Given the description of an element on the screen output the (x, y) to click on. 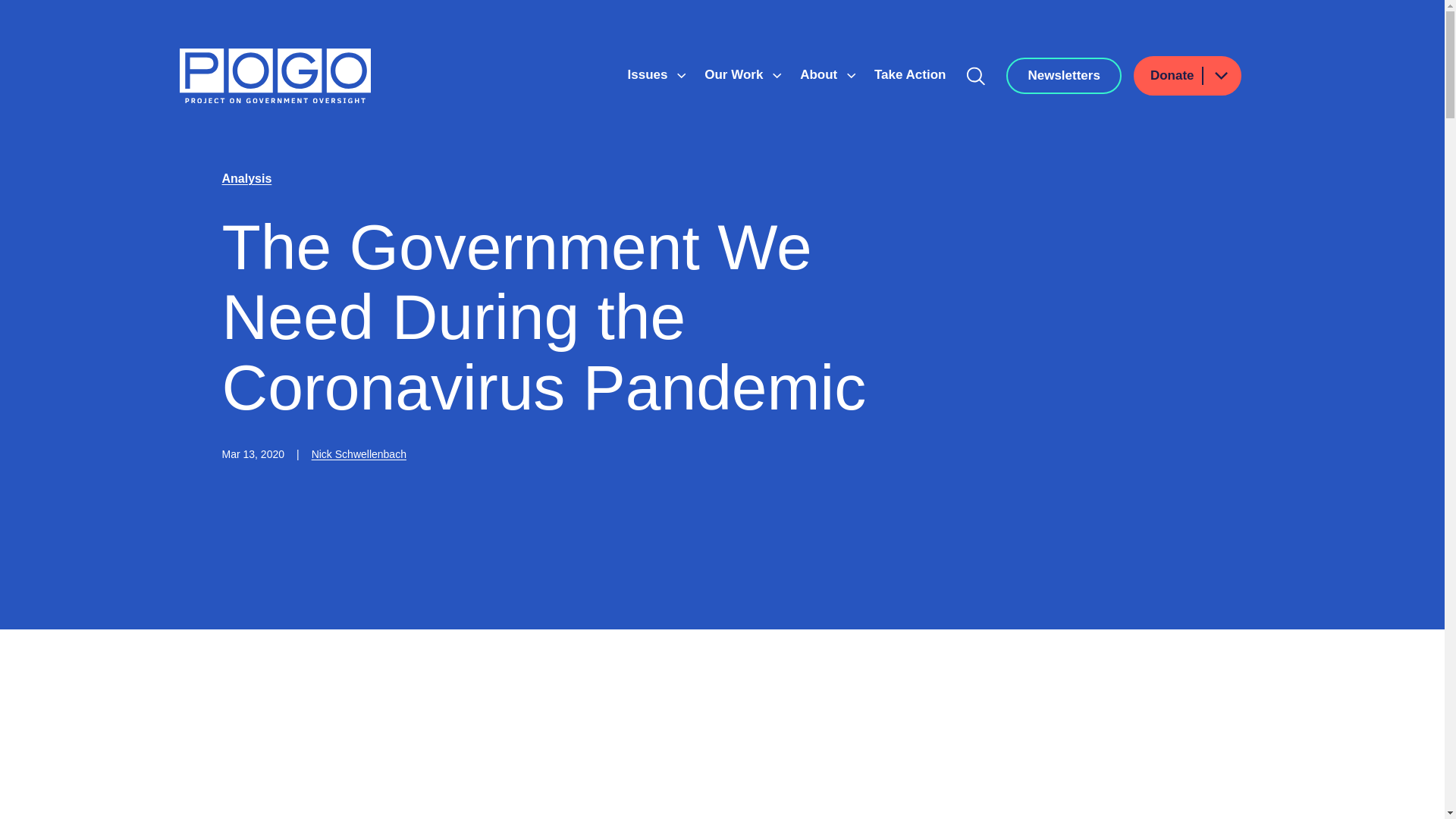
Show submenu for Our Work (777, 75)
Home (274, 75)
Show submenu for Donate (1220, 75)
Show submenu for About (851, 75)
Issues (649, 74)
Show submenu for Issues (681, 75)
Donate (1187, 75)
Take Action (909, 74)
Search (976, 75)
About (820, 74)
